Given the description of an element on the screen output the (x, y) to click on. 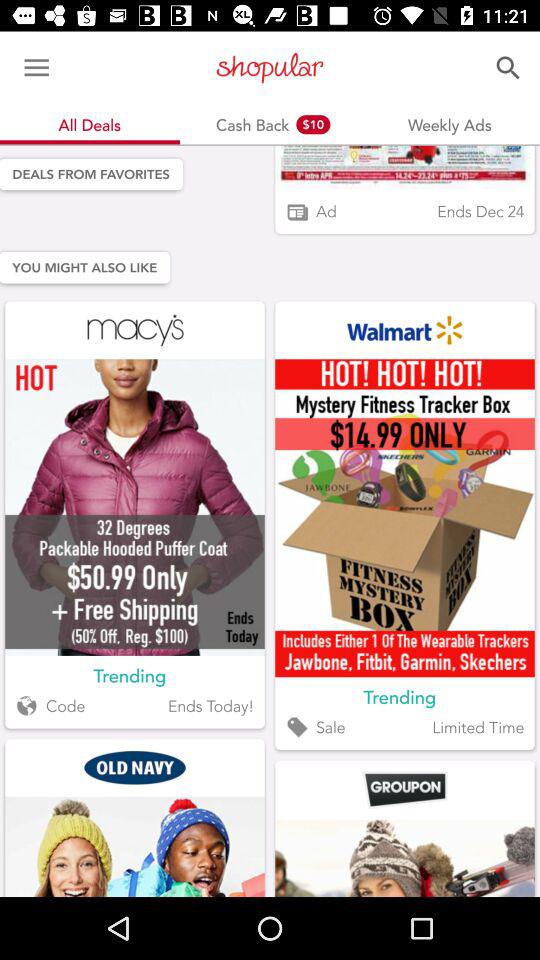
go to macys (134, 330)
